Given the description of an element on the screen output the (x, y) to click on. 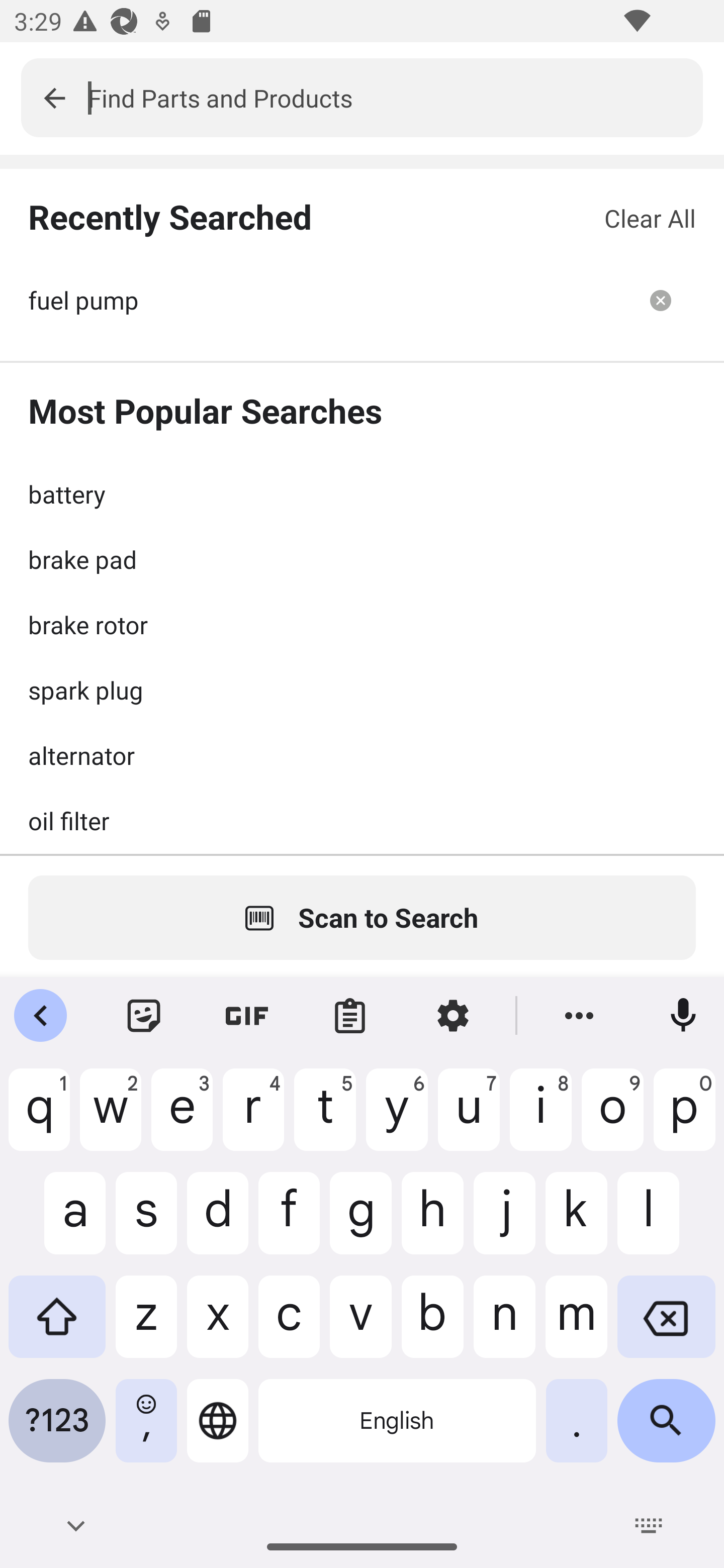
 (54, 97)
Find Parts and Products Text input field (395, 97)
Clear all Recently Searched items Clear All (649, 217)
fuel pump (326, 300)
Remove item fuel pump from Recently Searched  (660, 300)
battery (361, 493)
brake pad (361, 558)
brake rotor (361, 624)
spark plug (361, 689)
alternator (361, 754)
oil filter (361, 820)
